Given the description of an element on the screen output the (x, y) to click on. 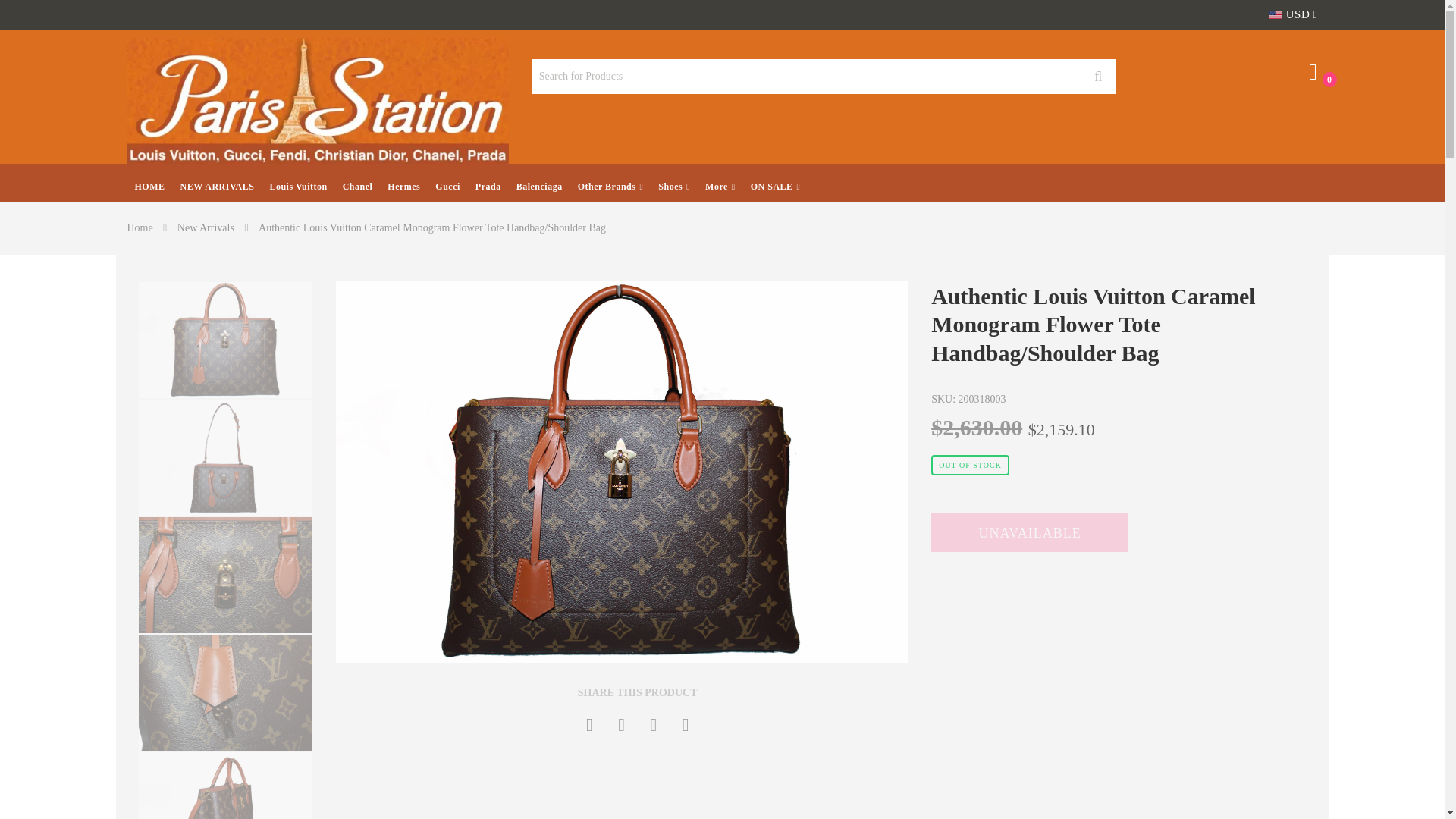
Chanel (357, 182)
Shoes (673, 182)
Balenciaga (539, 182)
Hermes (404, 182)
Gucci (447, 182)
Prada (487, 182)
NEW ARRIVALS (217, 182)
Shoes (673, 182)
Hermes (404, 182)
Balenciaga (539, 182)
